Given the description of an element on the screen output the (x, y) to click on. 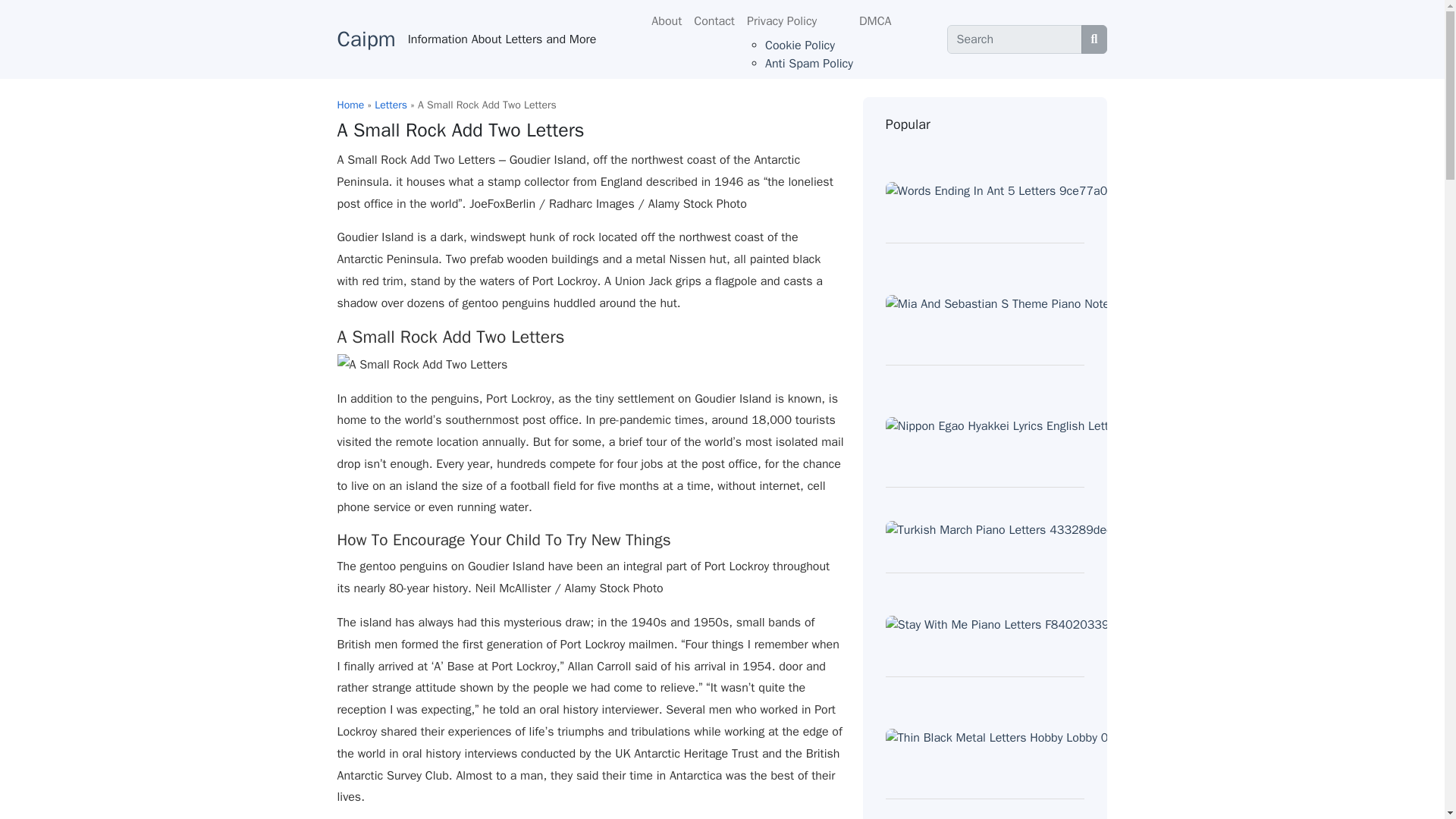
Privacy Policy (797, 20)
Caipm (365, 39)
Contact (714, 20)
About (666, 20)
DMCA (875, 20)
Anti Spam Policy (809, 63)
Cookie Policy (799, 45)
Privacy Policy (797, 20)
Contact (714, 20)
Search (1014, 39)
A Small Rock Add Two Letters (421, 364)
Caipm (365, 39)
Letters (390, 104)
DMCA (875, 20)
Home (350, 104)
